Given the description of an element on the screen output the (x, y) to click on. 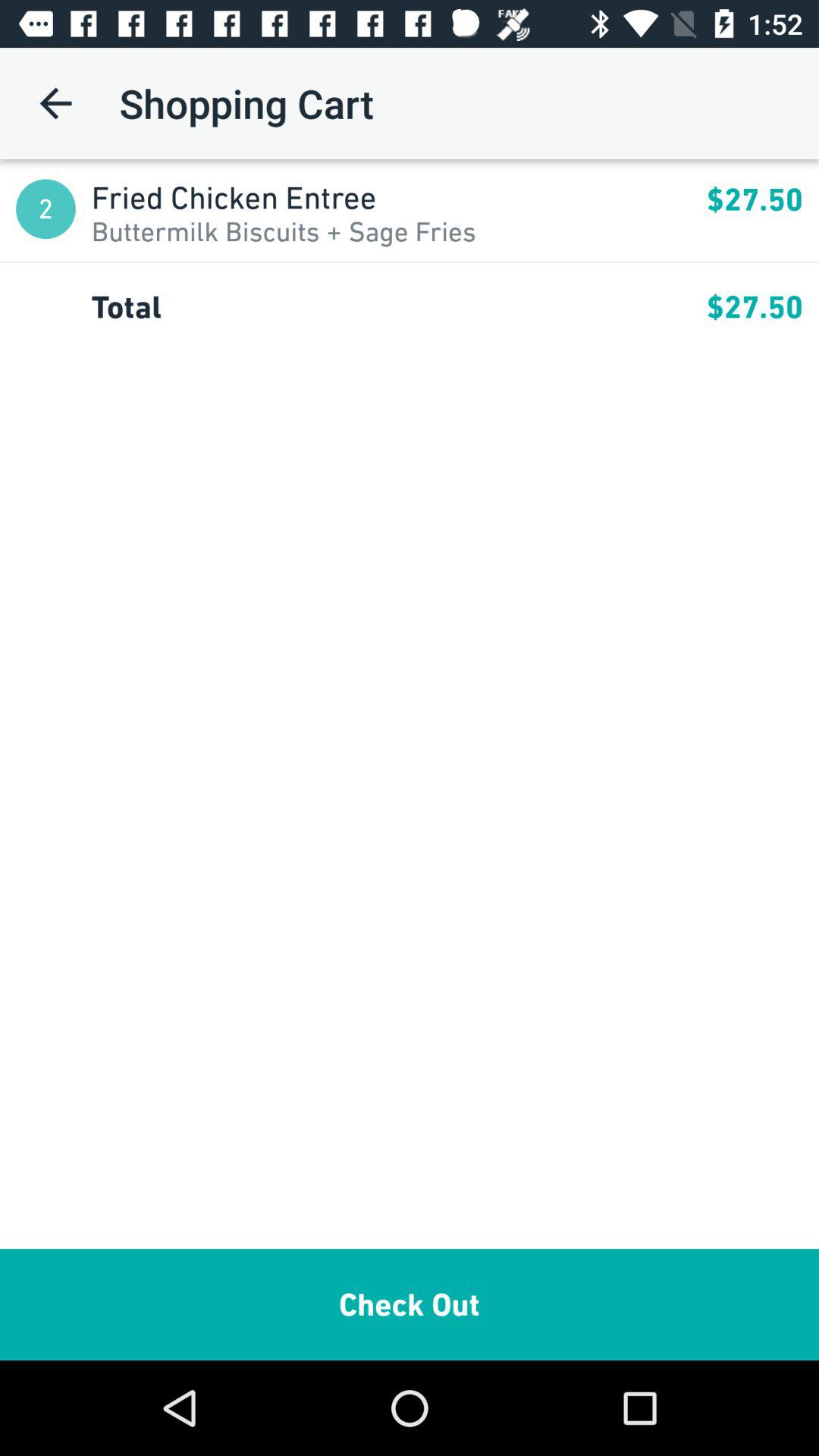
open the item next to 2 (283, 231)
